Given the description of an element on the screen output the (x, y) to click on. 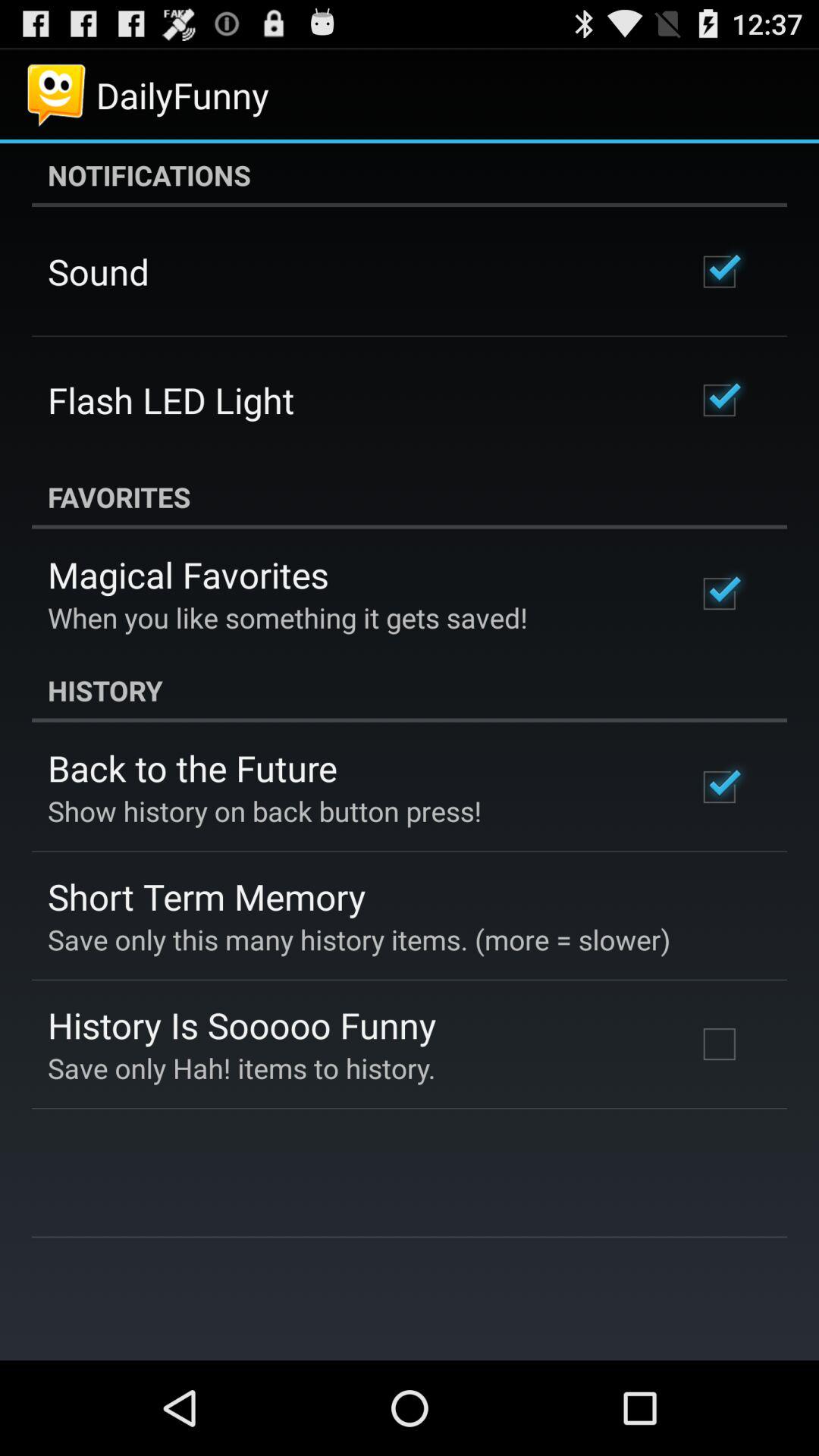
jump until history is sooooo (241, 1025)
